Given the description of an element on the screen output the (x, y) to click on. 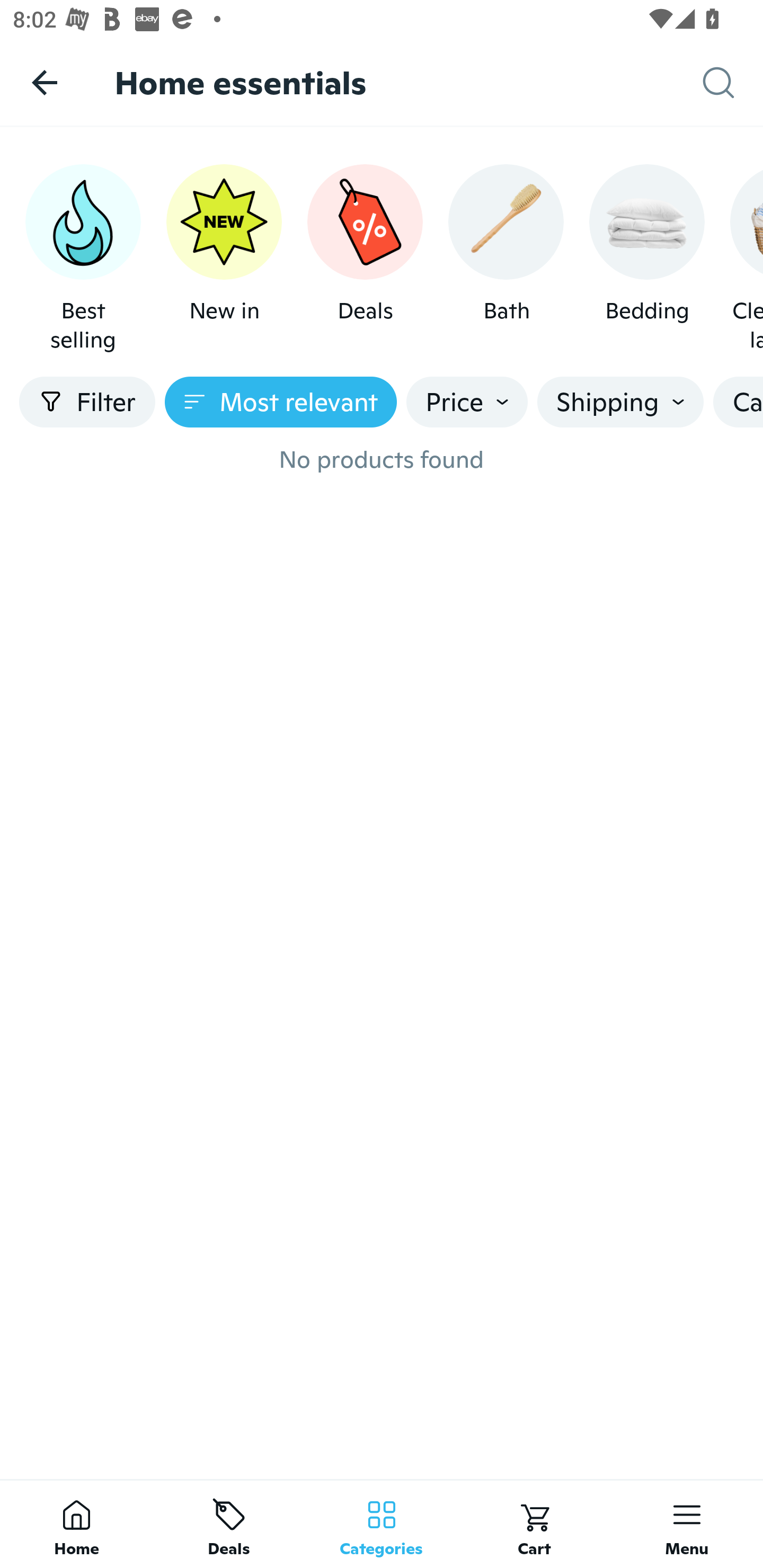
Navigate up (44, 82)
Search (732, 82)
Best selling (83, 259)
New in (223, 259)
Deals (364, 259)
Bath (505, 259)
Bedding (647, 259)
Filter (86, 402)
Most relevant (280, 402)
Price (466, 402)
Shipping (620, 402)
Home (76, 1523)
Deals (228, 1523)
Categories (381, 1523)
Cart (533, 1523)
Menu (686, 1523)
